Given the description of an element on the screen output the (x, y) to click on. 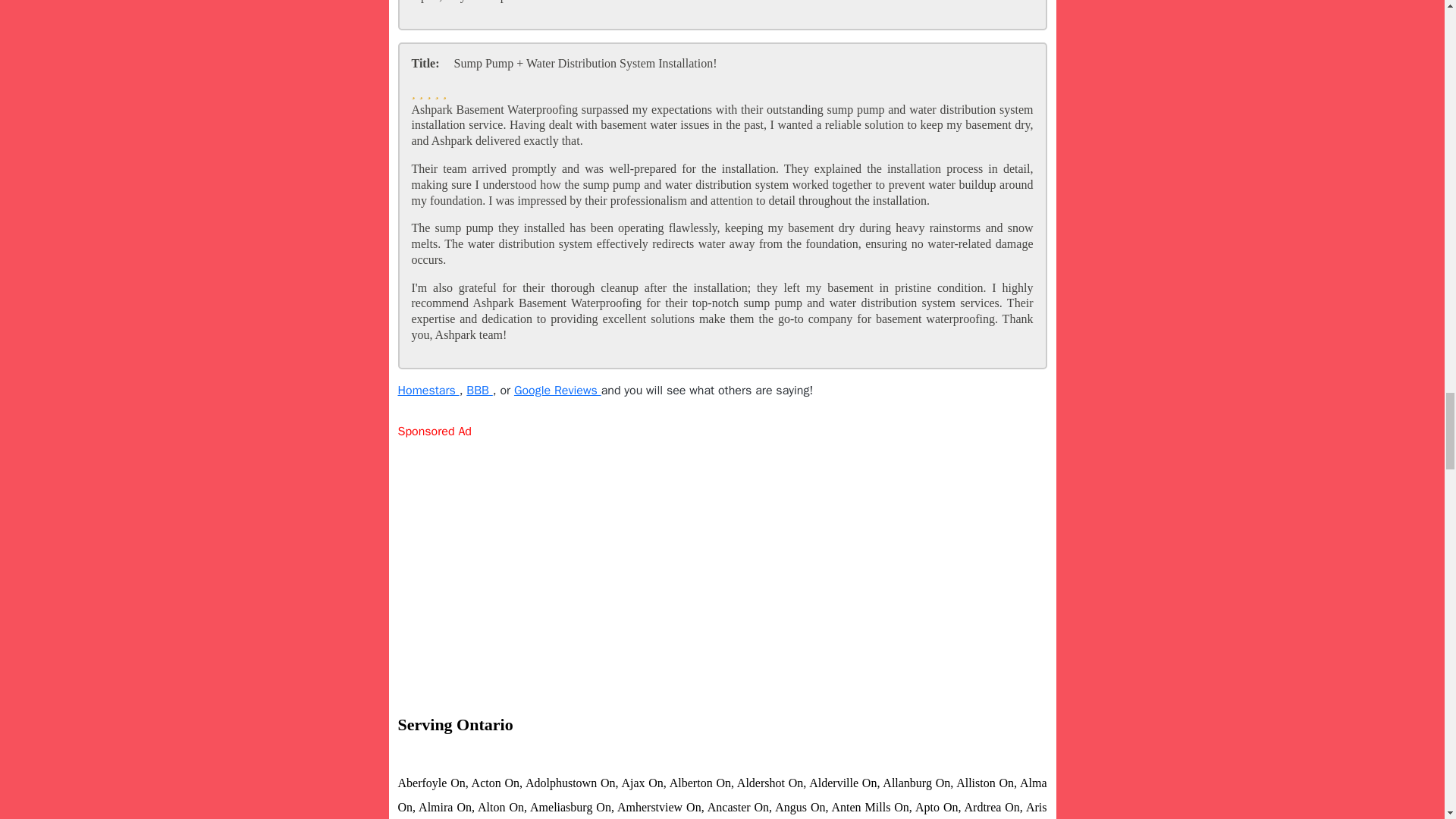
Homestars (427, 390)
BBB (479, 390)
Google Reviews (557, 390)
